Given the description of an element on the screen output the (x, y) to click on. 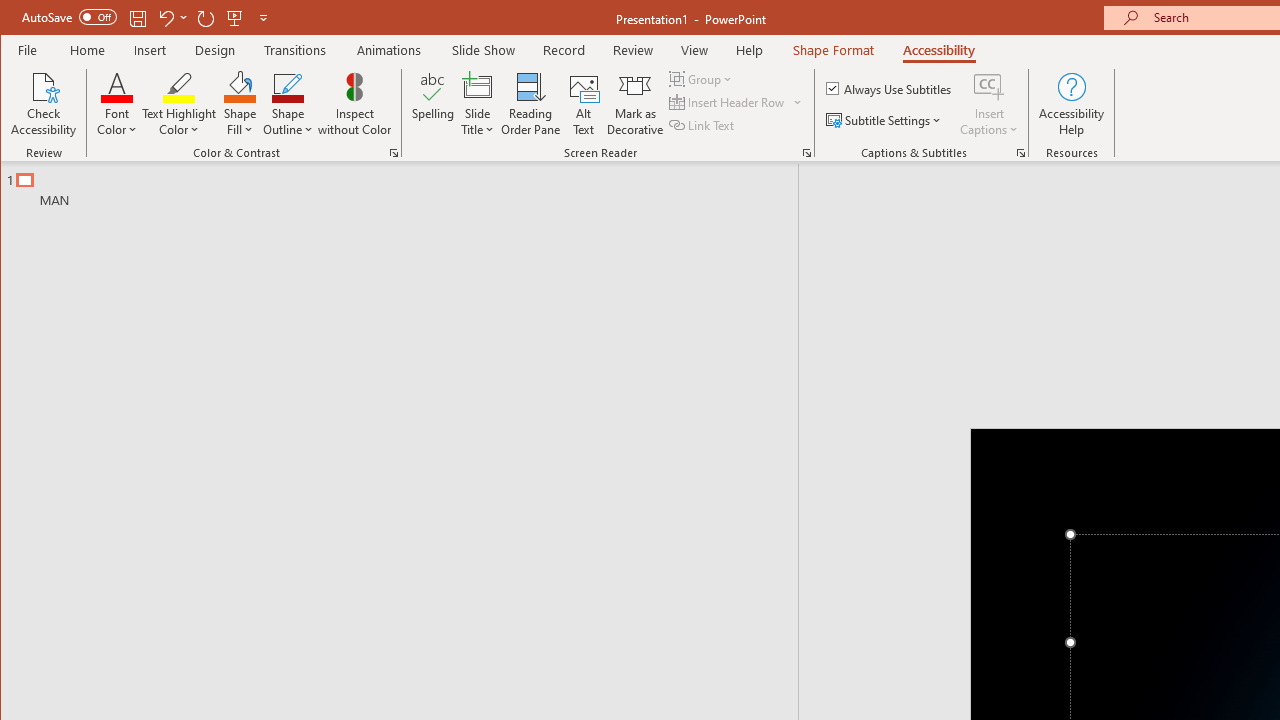
Insert Header Row (728, 101)
Always Use Subtitles (890, 88)
Insert Header Row (735, 101)
Inspect without Color (355, 104)
Insert Captions (989, 104)
Insert Captions (989, 86)
